Given the description of an element on the screen output the (x, y) to click on. 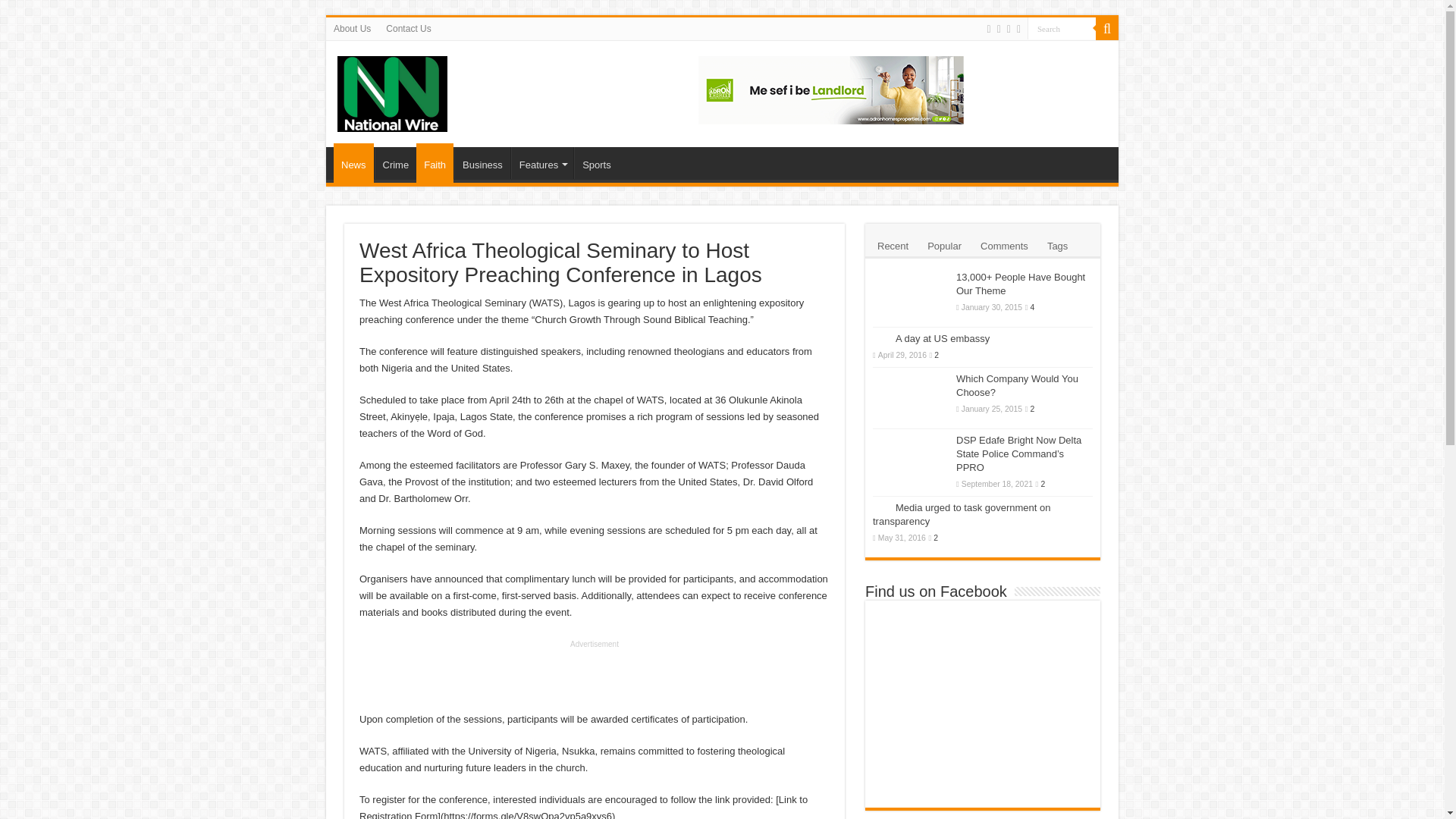
Search (1061, 28)
Tags (1057, 244)
Search (1107, 28)
Search (1061, 28)
About Us (352, 28)
Faith (434, 162)
Business (482, 163)
Features (542, 163)
Crime (395, 163)
Contact Us (408, 28)
